Given the description of an element on the screen output the (x, y) to click on. 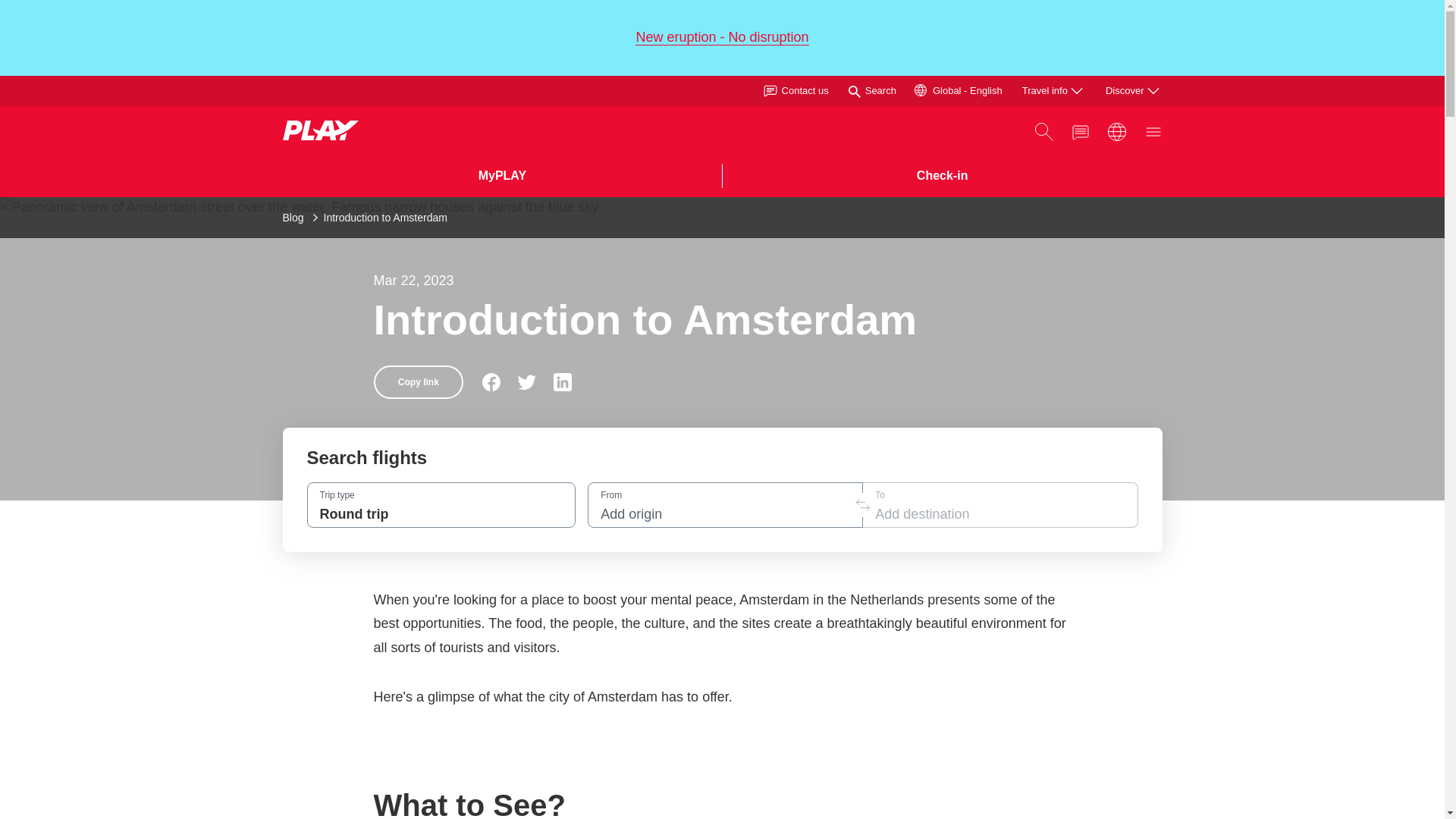
Check-in (941, 175)
swap from and to locations (862, 504)
Travel info (1054, 90)
MyPLAY (502, 175)
Global - English (958, 90)
Contact us (795, 90)
Discover (1133, 90)
New eruption - No disruption (721, 37)
